Given the description of an element on the screen output the (x, y) to click on. 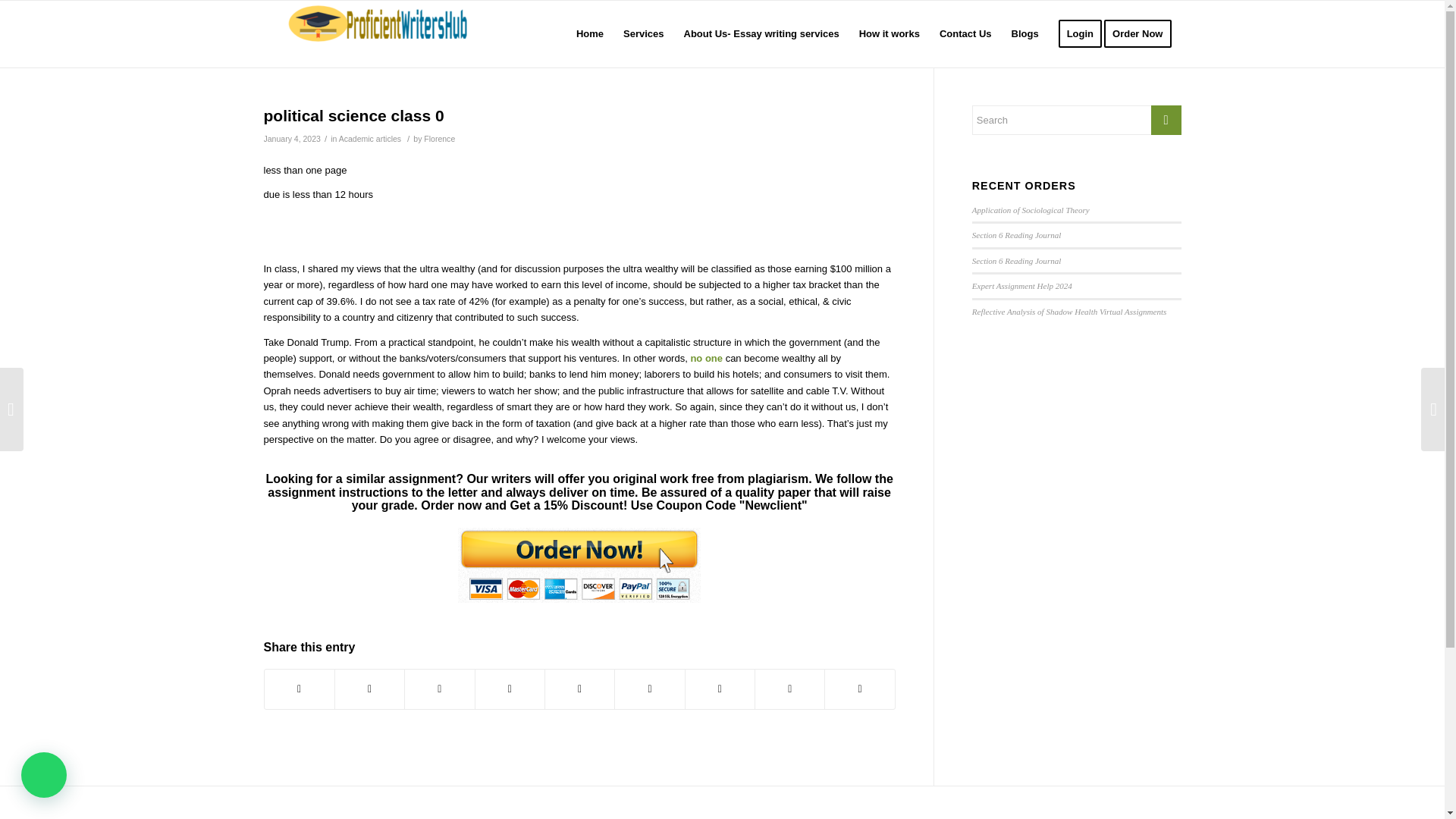
Florence (438, 138)
Reflective Analysis of Shadow Health Virtual Assignments (1069, 311)
Permanent Link: political science class 0 (353, 115)
Expert Assignment Help 2024 (1021, 285)
Order Now (1141, 33)
Section 6 Reading Journal (1016, 260)
How it works (889, 33)
Services (643, 33)
Application of Sociological Theory (1030, 209)
political science class 0 (353, 115)
Section 6 Reading Journal (1016, 234)
Contact Us (965, 33)
Academic articles (370, 138)
Posts by Florence (438, 138)
Login (1080, 33)
